Given the description of an element on the screen output the (x, y) to click on. 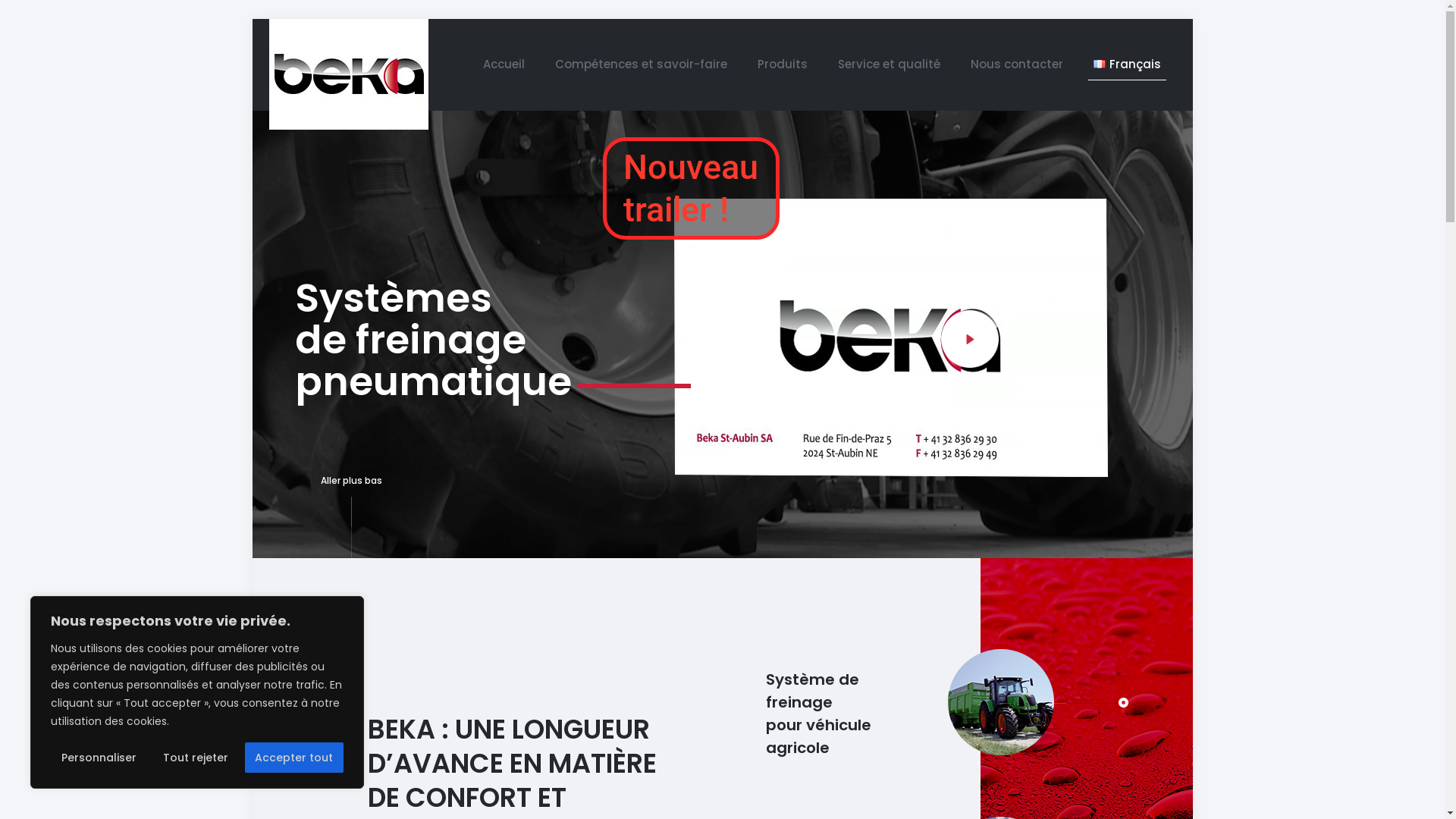
Produits Element type: text (782, 63)
Tout rejeter Element type: text (195, 757)
Accueil Element type: text (503, 63)
Accepter tout Element type: text (293, 757)
BEKA ST-AUBIN SA Element type: hover (347, 73)
Personnaliser Element type: text (98, 757)
Nous contacter Element type: text (1016, 63)
